Given the description of an element on the screen output the (x, y) to click on. 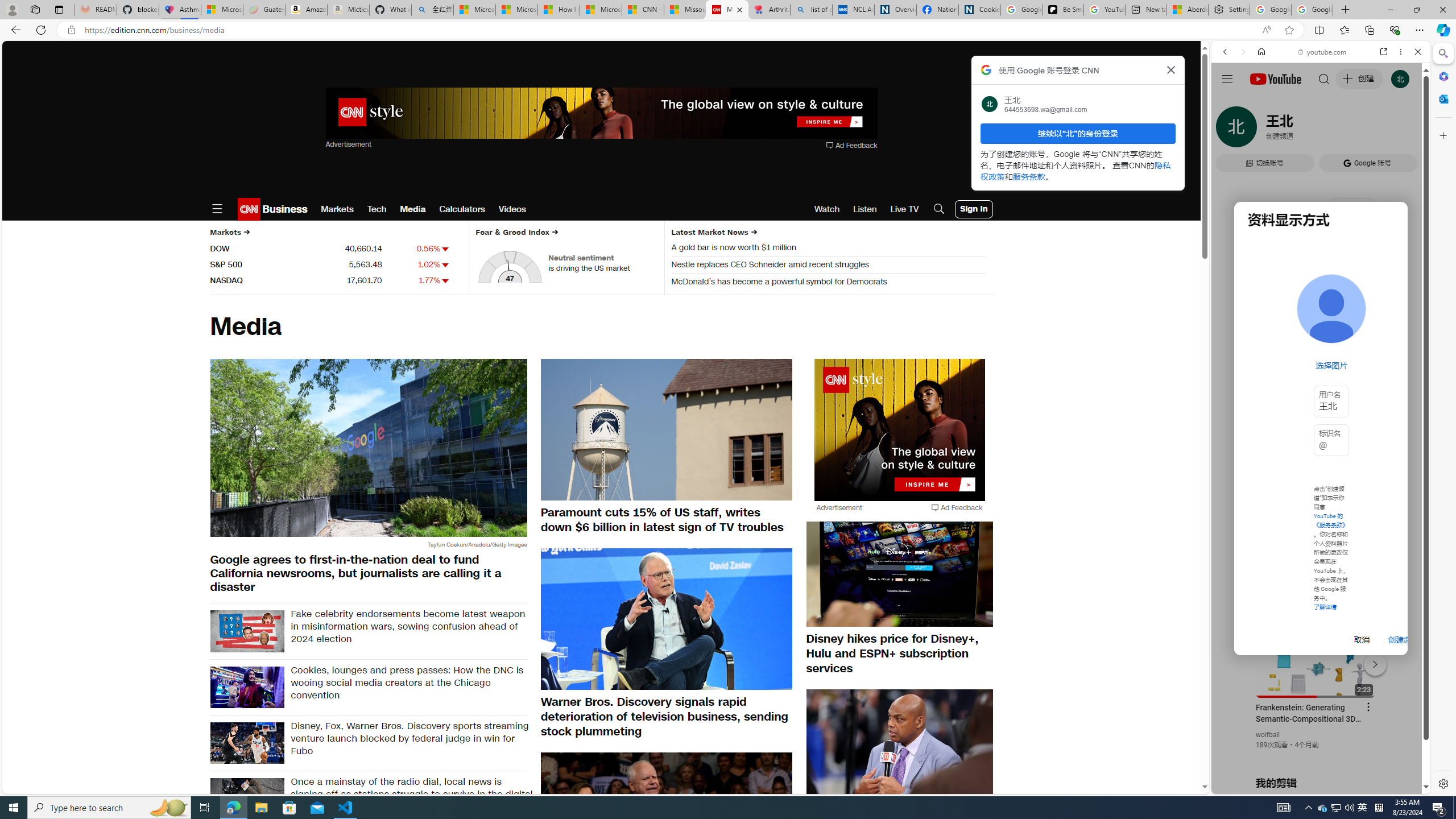
This site scope (1259, 102)
Web scope (1230, 102)
#you (1320, 253)
